Given the description of an element on the screen output the (x, y) to click on. 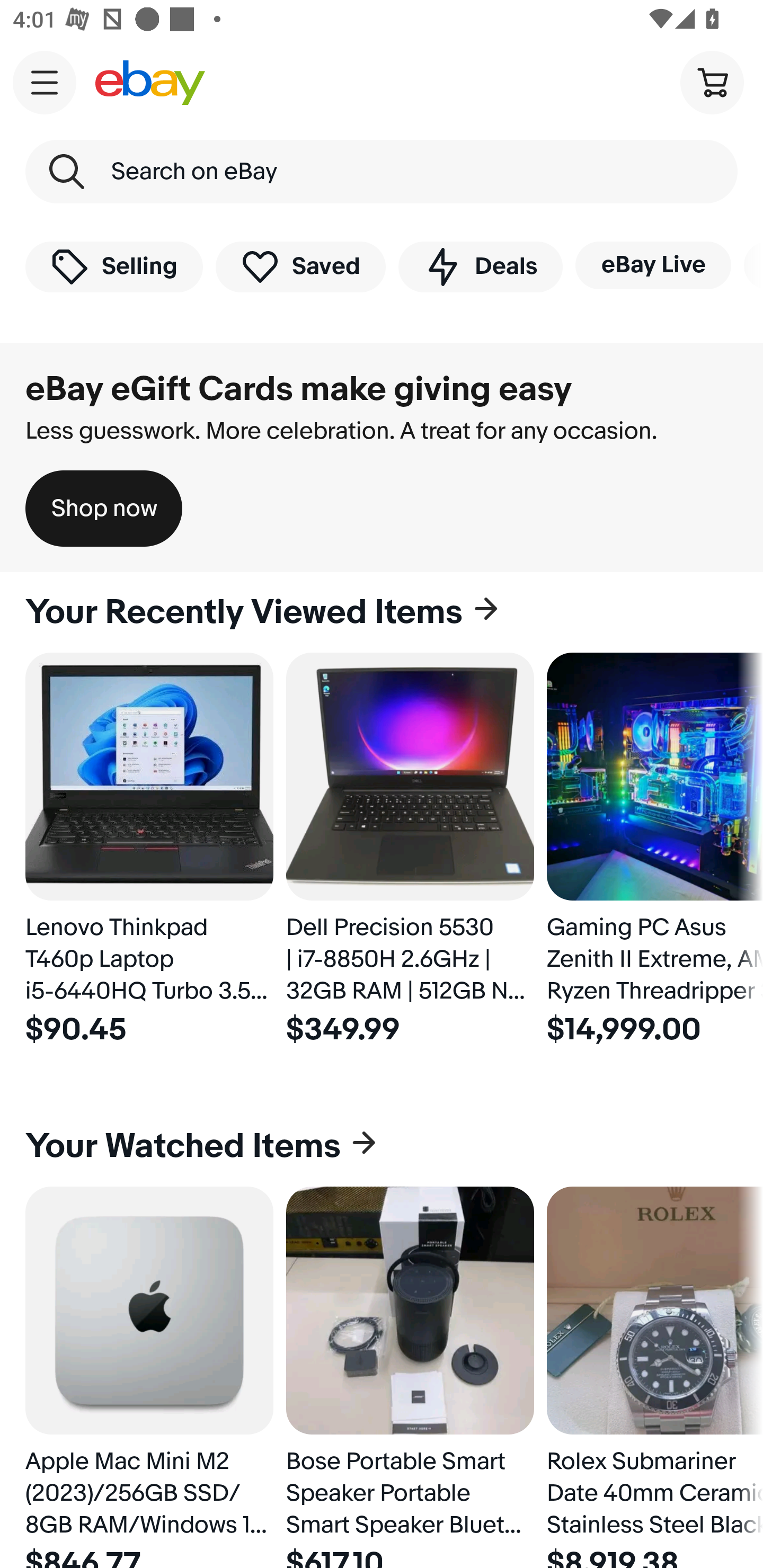
Main navigation, open (44, 82)
Cart button shopping cart (711, 81)
Search on eBay Search Keyword Search on eBay (381, 171)
Selling (113, 266)
Saved (300, 266)
Deals (480, 266)
eBay Live (652, 264)
eBay eGift Cards make giving easy (298, 389)
Shop now (103, 508)
Your Recently Viewed Items   (381, 612)
Your Watched Items   (381, 1145)
